Given the description of an element on the screen output the (x, y) to click on. 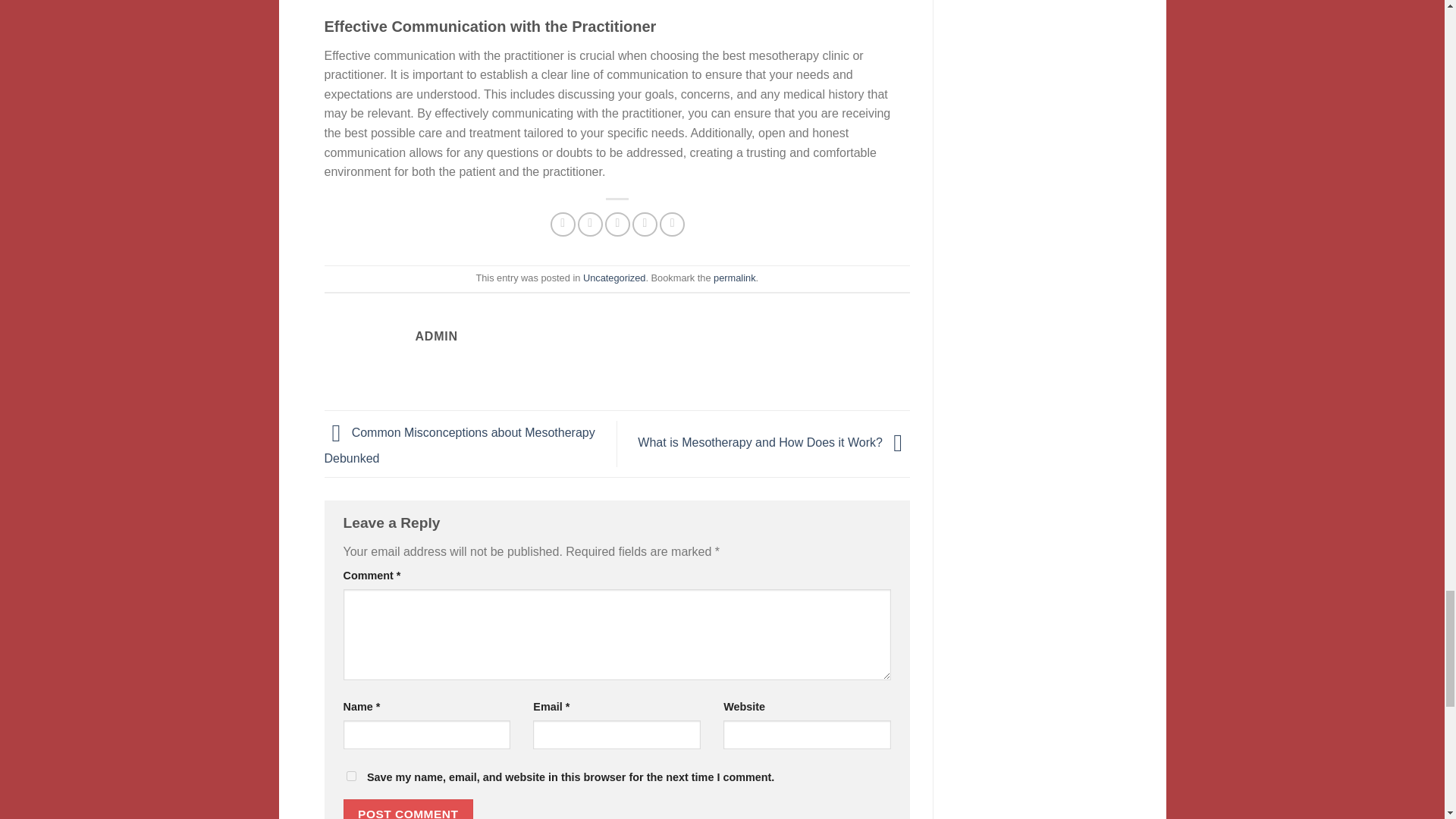
Share on LinkedIn (671, 224)
Post Comment (407, 809)
Email to a Friend (617, 224)
Share on Facebook (562, 224)
Share on Twitter (590, 224)
Pin on Pinterest (644, 224)
yes (350, 776)
